Given the description of an element on the screen output the (x, y) to click on. 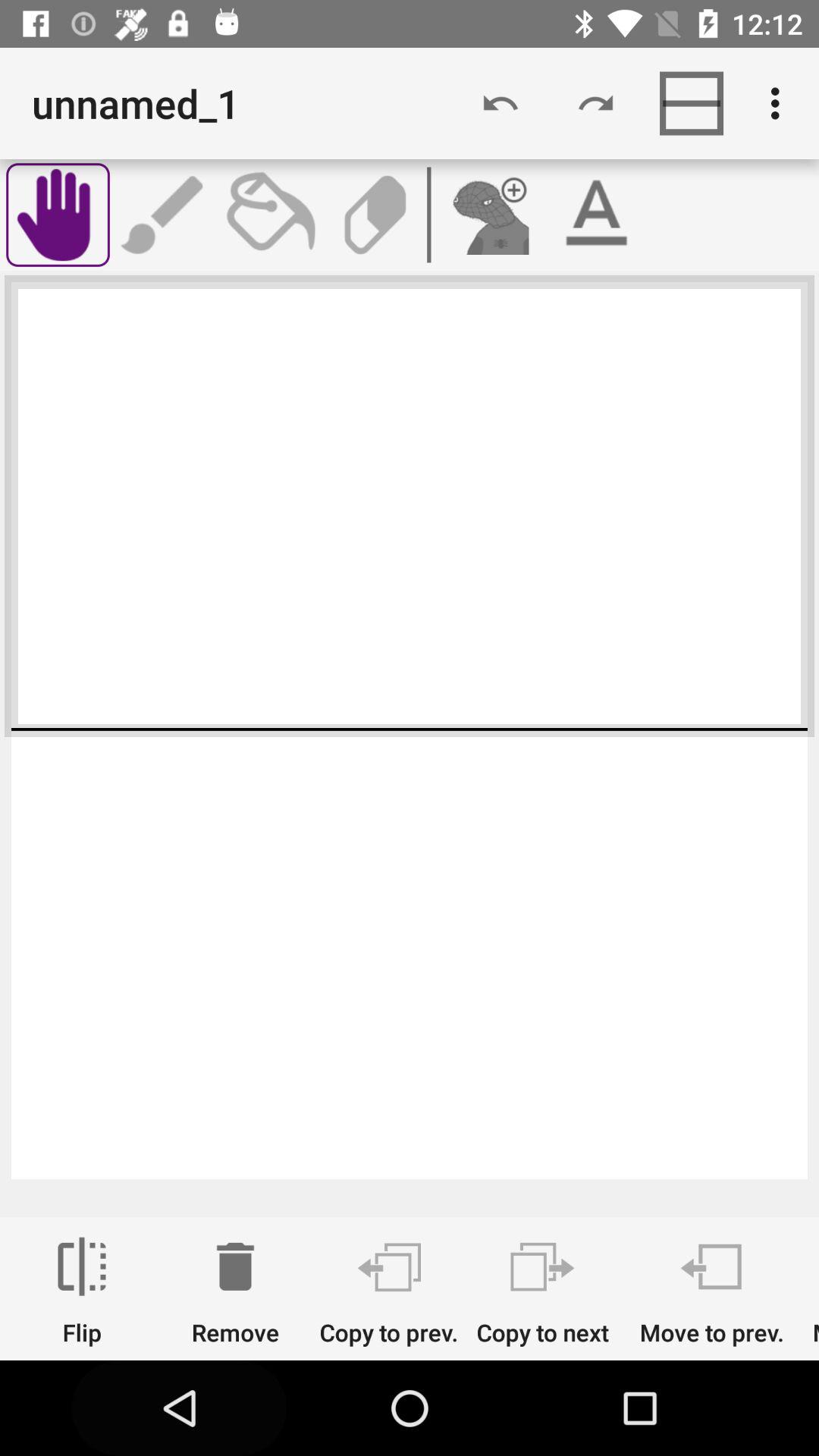
flip to flip icon (81, 1291)
